Given the description of an element on the screen output the (x, y) to click on. 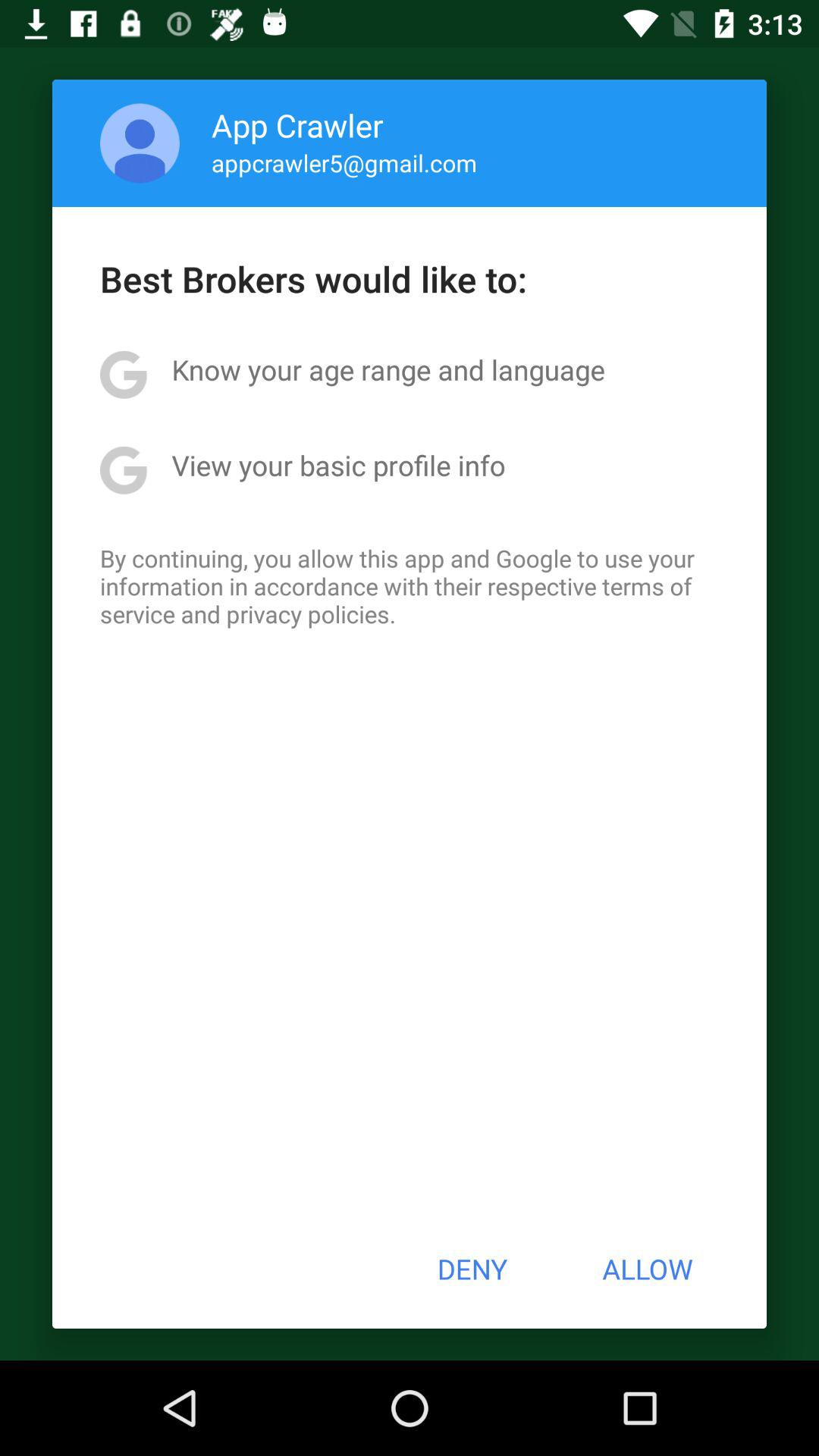
select item to the left of allow item (471, 1268)
